Given the description of an element on the screen output the (x, y) to click on. 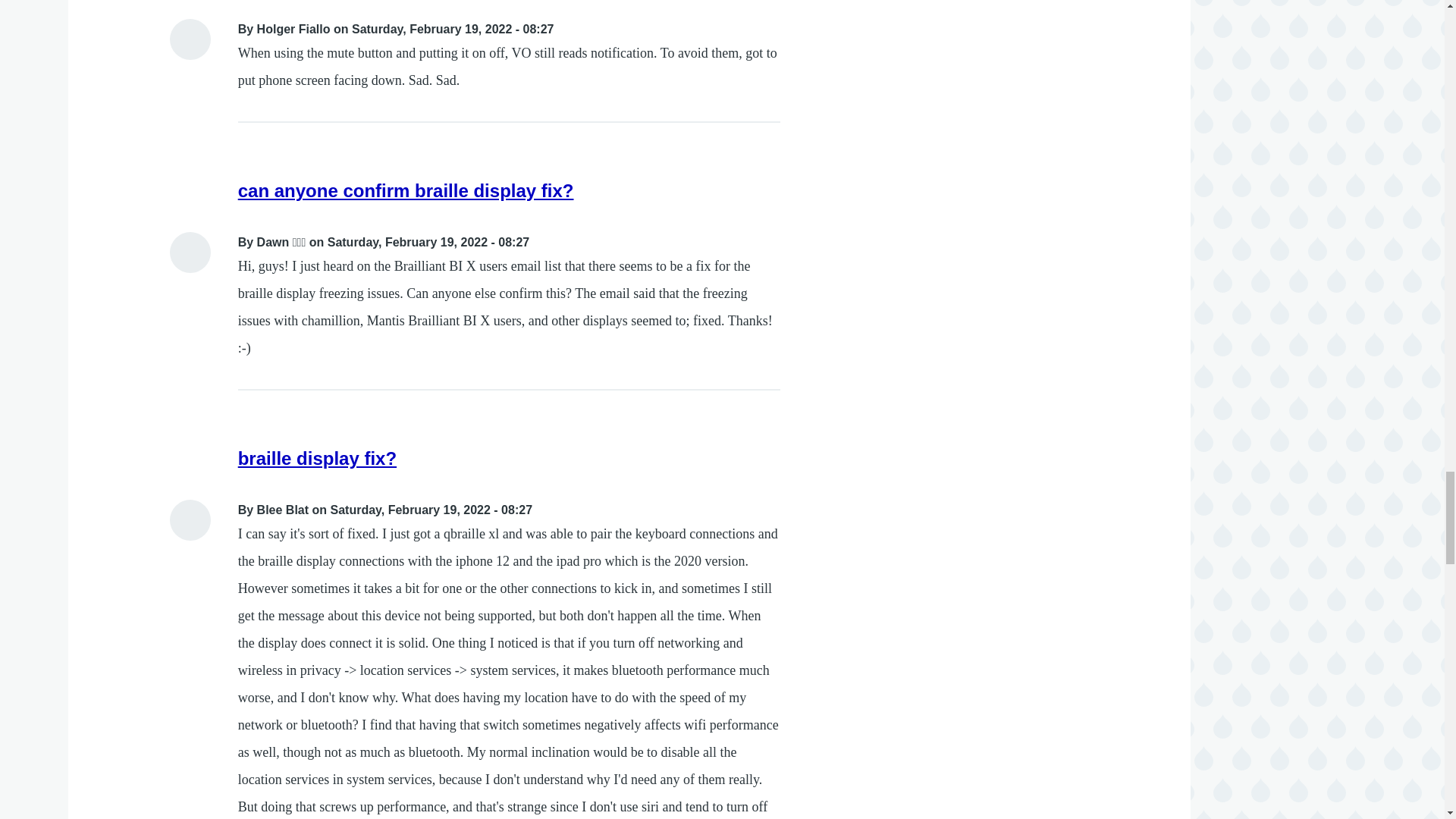
braille display fix? (317, 457)
can anyone confirm braille display fix? (405, 190)
